Given the description of an element on the screen output the (x, y) to click on. 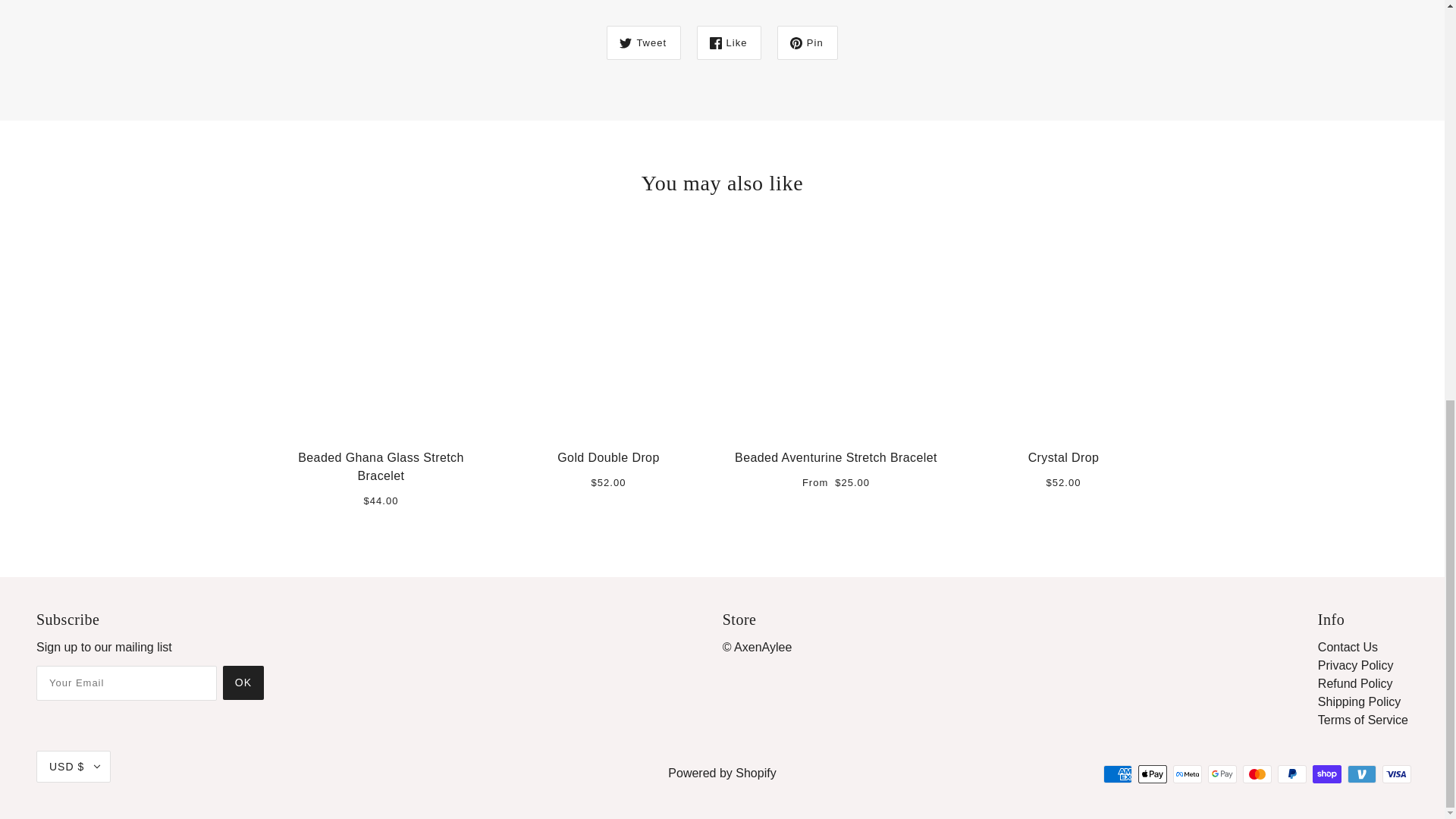
Mastercard (1257, 773)
Meta Pay (1187, 773)
American Express (1117, 773)
Apple Pay (1152, 773)
Visa (1395, 773)
Terms of Service (1362, 719)
Google Pay (1222, 773)
Venmo (1361, 773)
Refund Policy (1355, 683)
Shipping Policy (1358, 701)
